Given the description of an element on the screen output the (x, y) to click on. 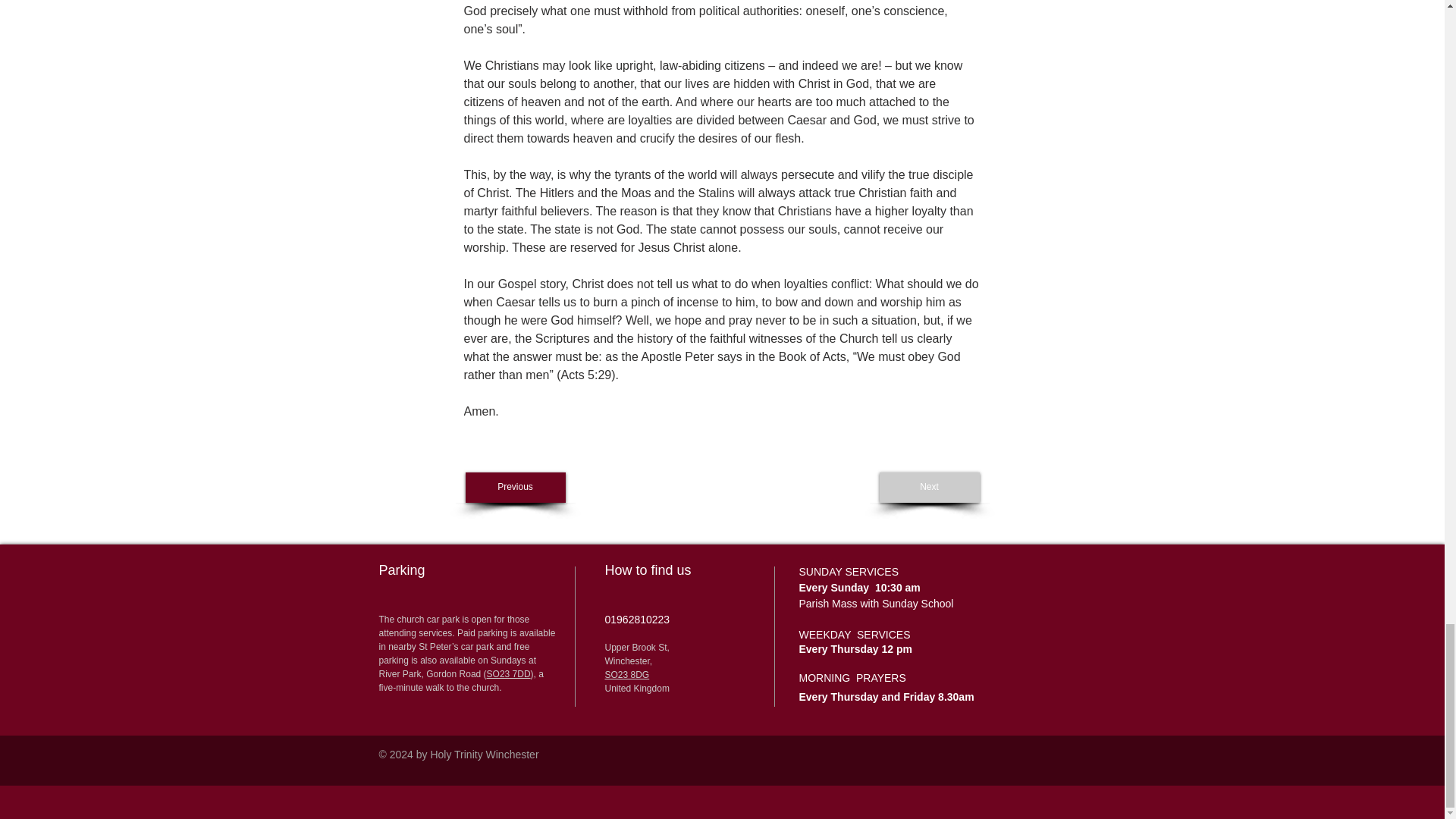
SO23 7DD (508, 674)
SO23 8DG (627, 674)
Previous (515, 487)
How to find us  (650, 570)
Next (929, 487)
